Given the description of an element on the screen output the (x, y) to click on. 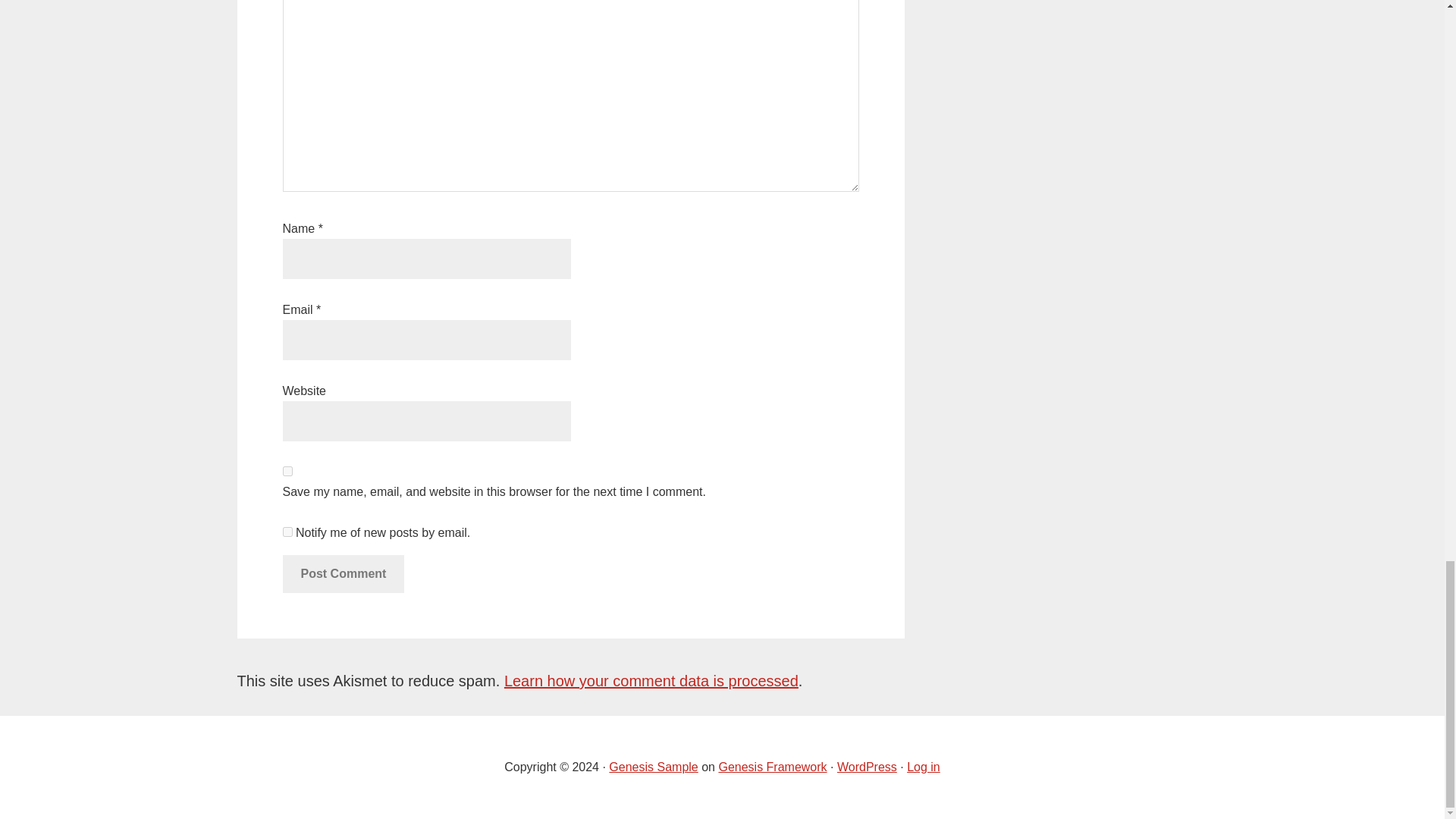
Genesis Framework (772, 766)
Learn how your comment data is processed (650, 680)
Post Comment (343, 573)
Log in (923, 766)
Genesis Sample (652, 766)
subscribe (287, 532)
Post Comment (343, 573)
WordPress (866, 766)
yes (287, 470)
